Given the description of an element on the screen output the (x, y) to click on. 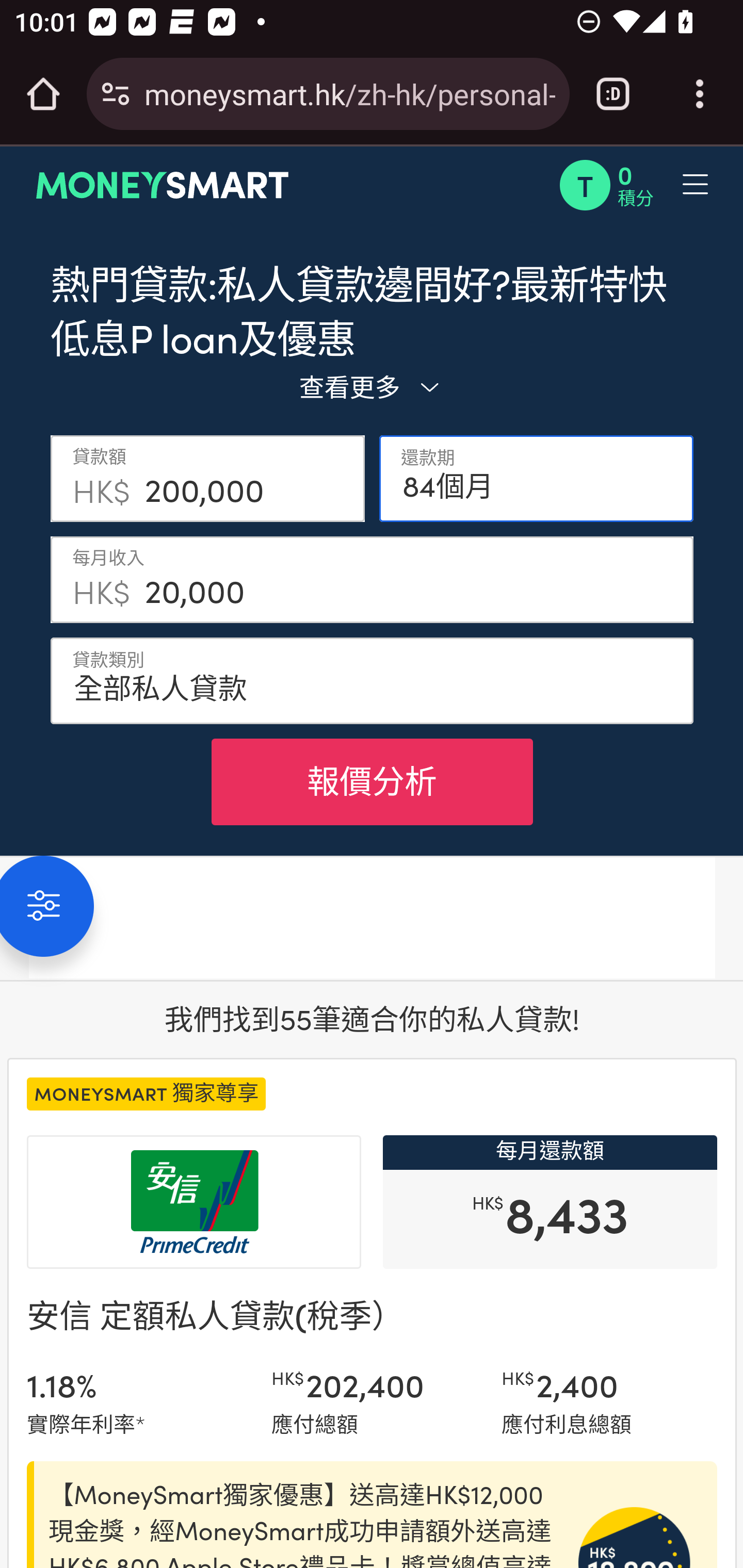
Open the home page (43, 93)
Connection is secure (115, 93)
Switch or close tabs (612, 93)
Customize and control Google Chrome (699, 93)
mobile menu (633, 184)
MoneySmart Logo (162, 184)
查看更多  (371, 385)
200,000 (248, 477)
還款期 (536, 477)
報價分析 (371, 781)
 安信信貸 logo (193, 1201)
安信 定額私人貸款(稅季） (215, 1313)
